Given the description of an element on the screen output the (x, y) to click on. 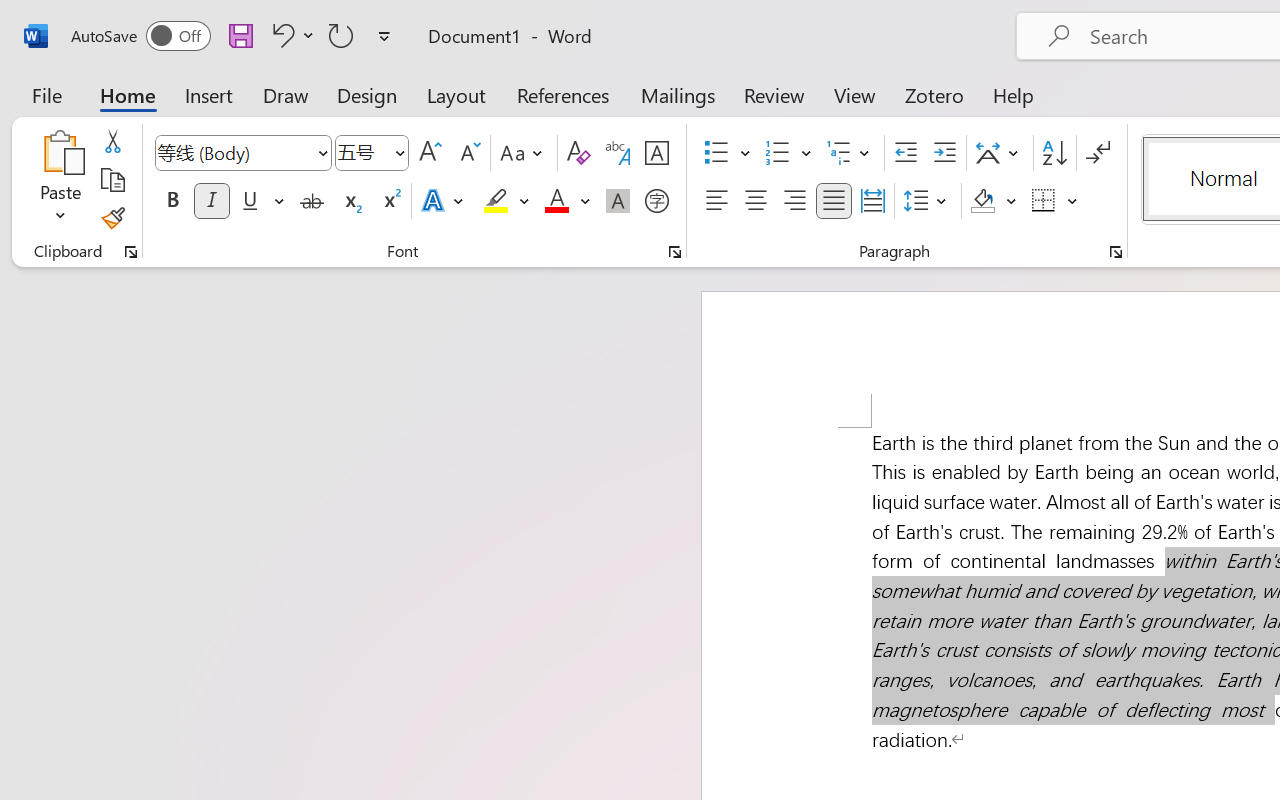
Paragraph... (1115, 252)
Justify (834, 201)
Help (1013, 94)
Text Effects and Typography (444, 201)
Copy (112, 179)
Show/Hide Editing Marks (1098, 153)
Format Painter (112, 218)
Font... (675, 252)
Bold (172, 201)
